Given the description of an element on the screen output the (x, y) to click on. 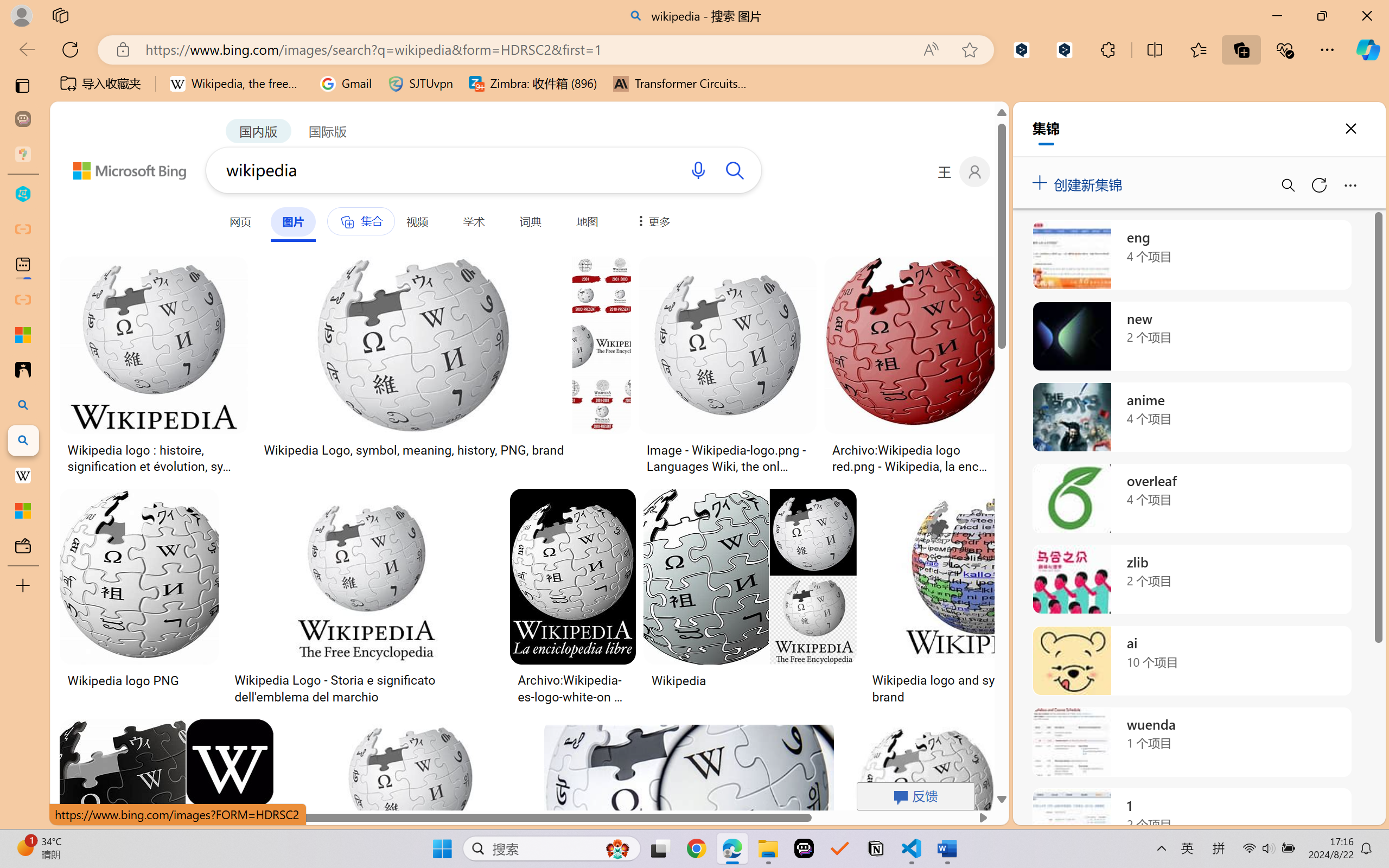
Earth - Wikipedia (22, 475)
Adjust indents and spacing - Microsoft Support (22, 334)
